Given the description of an element on the screen output the (x, y) to click on. 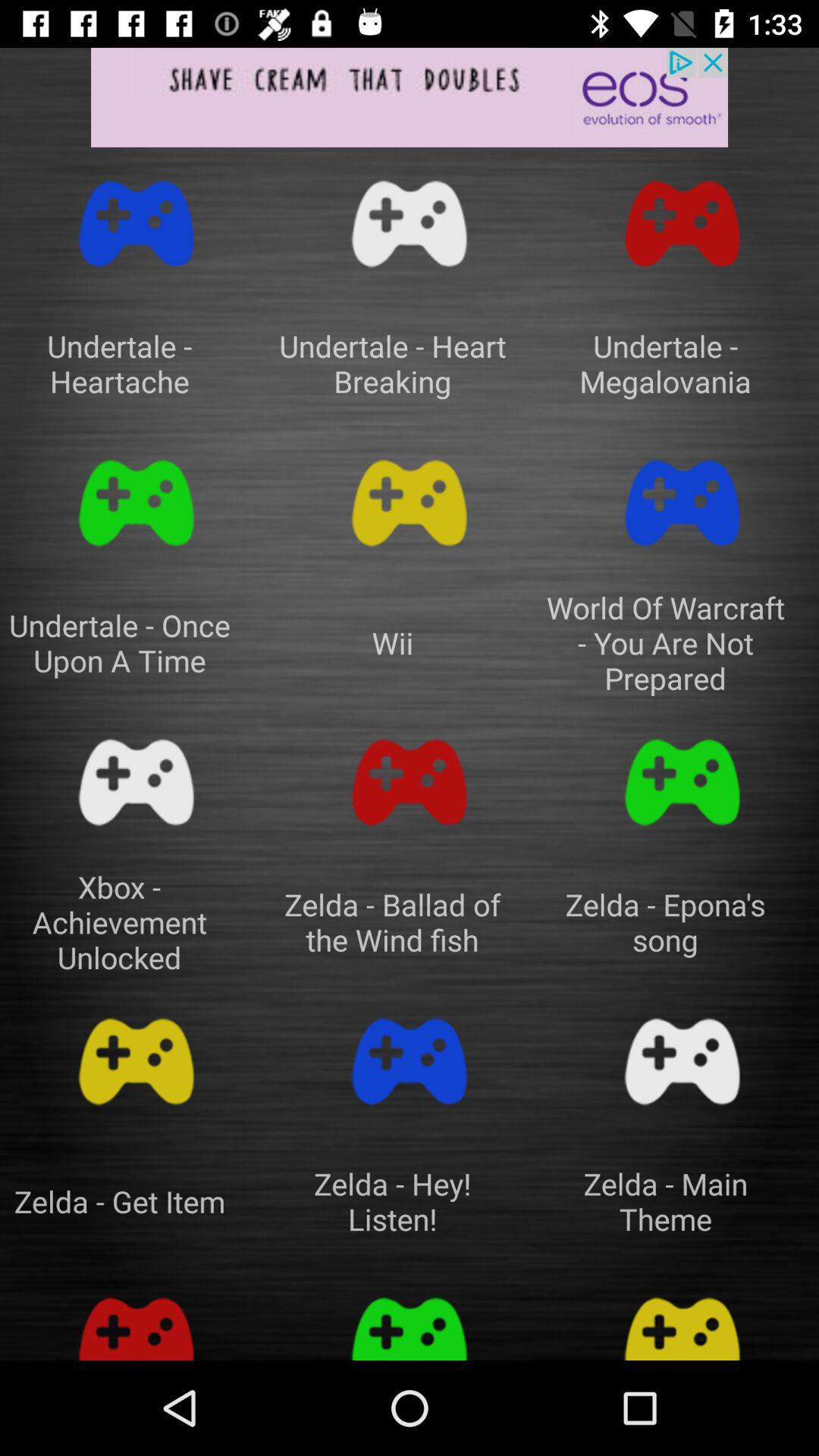
open game (409, 1320)
